Given the description of an element on the screen output the (x, y) to click on. 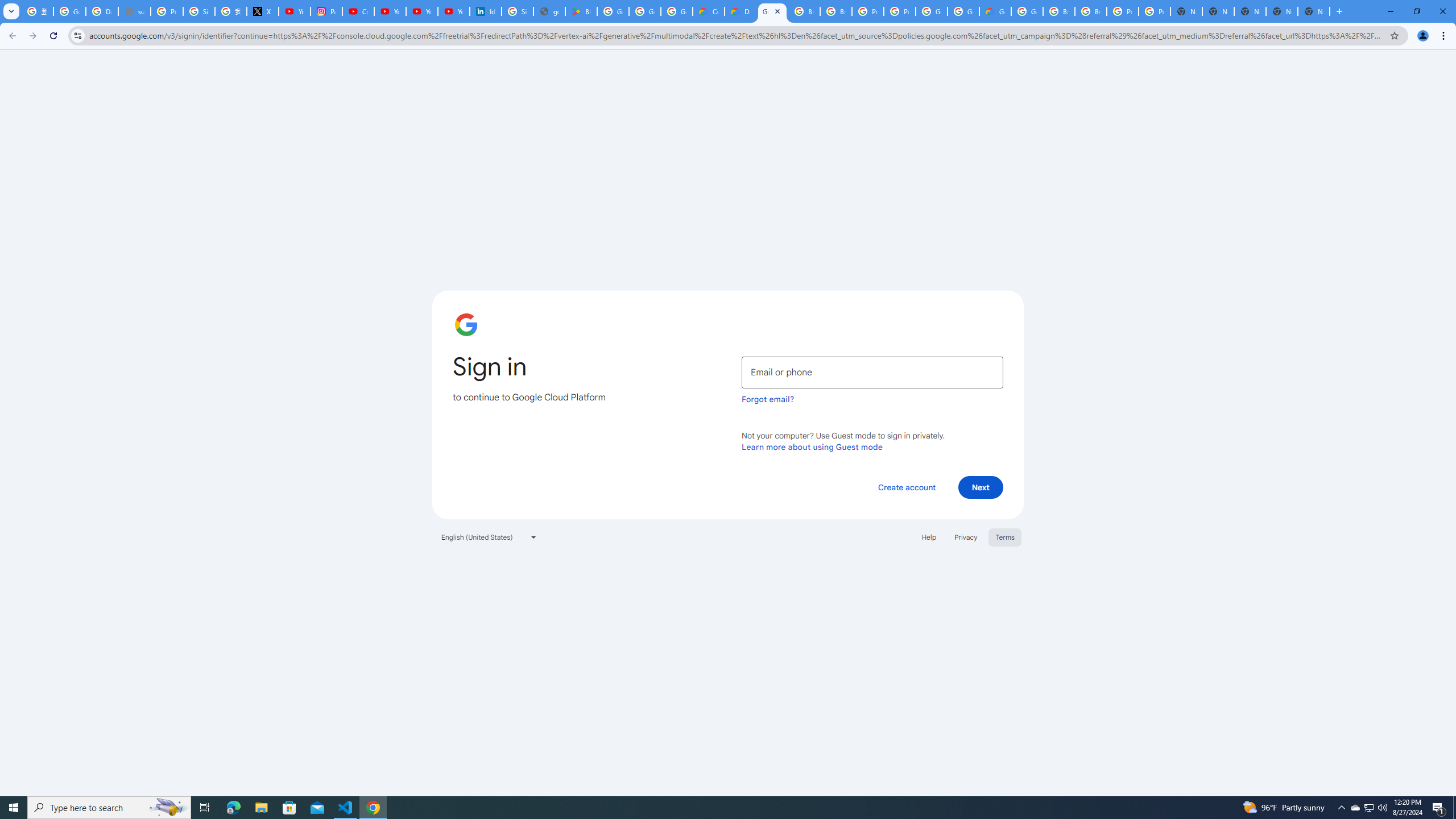
YouTube Culture & Trends - YouTube Top 10, 2021 (421, 11)
Google Cloud Estimate Summary (995, 11)
support.google.com - Network error (134, 11)
Create account (905, 486)
Google Cloud Platform (963, 11)
